Given the description of an element on the screen output the (x, y) to click on. 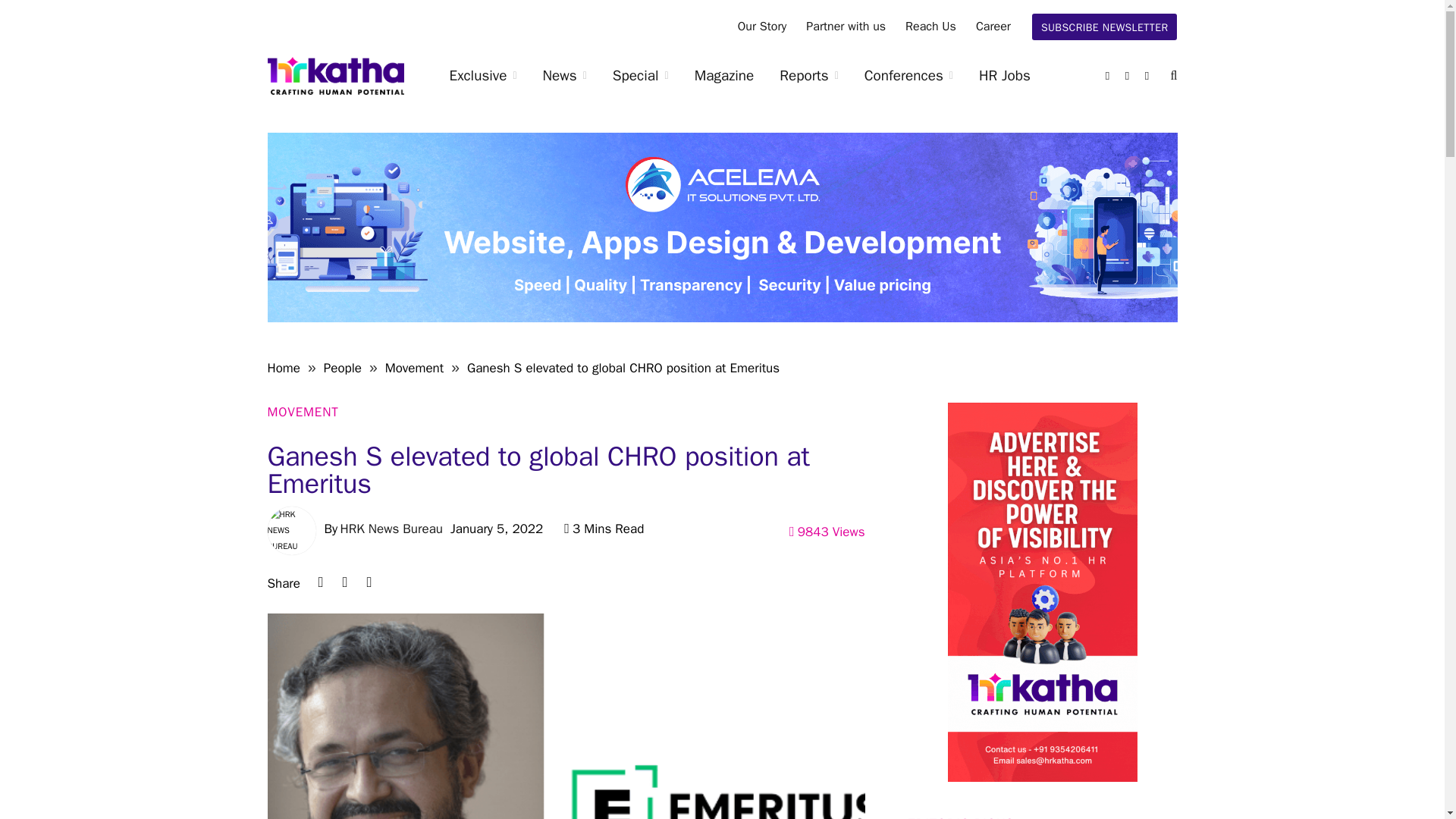
News (564, 75)
Share on LinkedIn (319, 582)
Career (993, 26)
HR Katha (334, 76)
Partner with us (845, 26)
Special (640, 75)
Ganesh S elevated to global CHRO position at Emeritus (565, 716)
Reach Us (930, 26)
Share on Facebook (369, 582)
Posts by HRK News Bureau (390, 528)
Our Story (762, 26)
Exclusive (482, 75)
SUBSCRIBE NEWSLETTER (1104, 26)
